Given the description of an element on the screen output the (x, y) to click on. 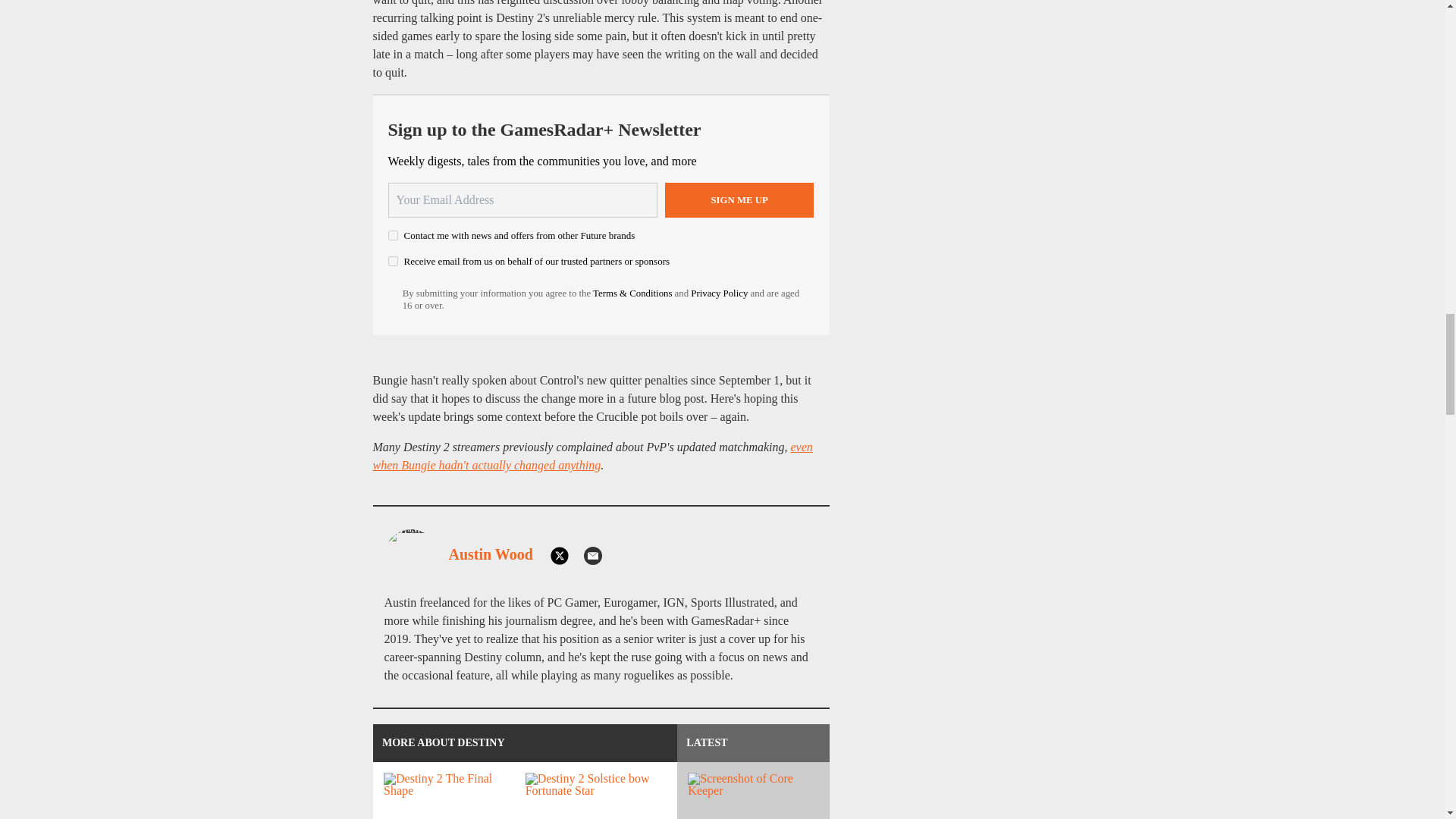
on (392, 261)
on (392, 235)
Sign me up (739, 199)
